Given the description of an element on the screen output the (x, y) to click on. 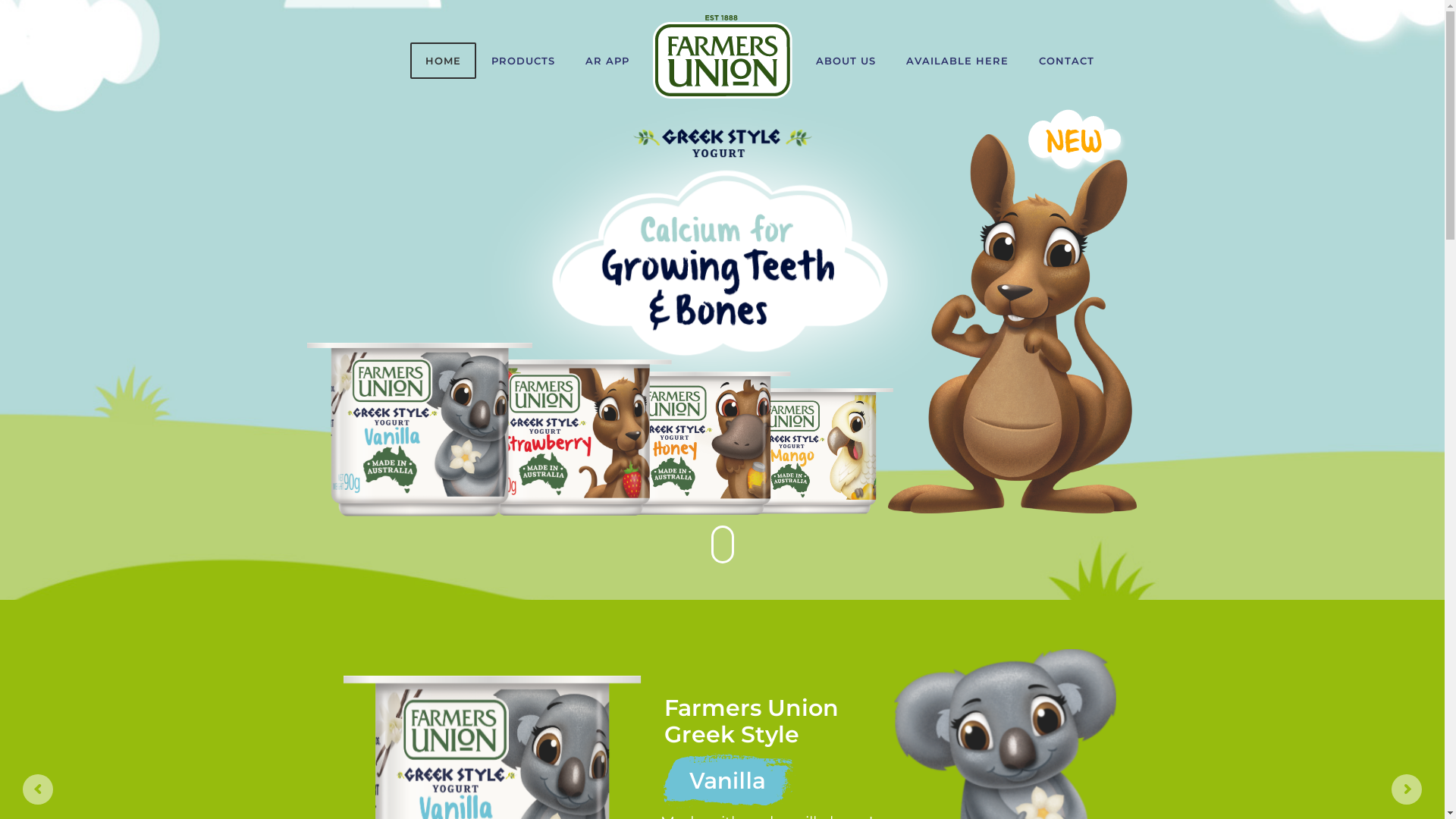
PRODUCTS Element type: text (523, 60)
AR APP Element type: text (607, 60)
CONTACT Element type: text (1066, 60)
ABOUT US Element type: text (845, 60)
HOME Element type: text (442, 60)
AVAILABLE HERE Element type: text (956, 60)
